Given the description of an element on the screen output the (x, y) to click on. 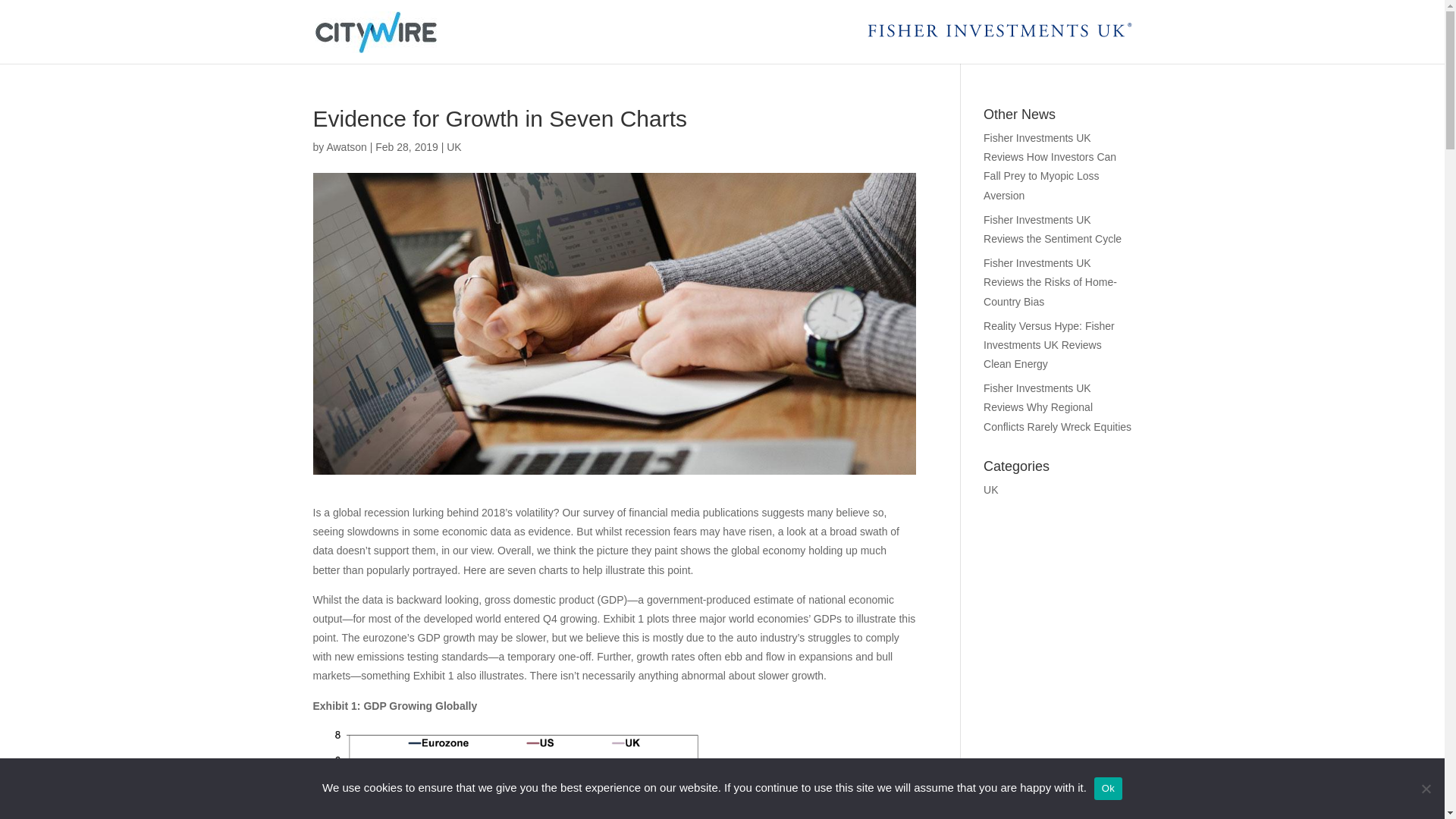
UK (453, 146)
Awatson (346, 146)
UK (990, 490)
Fisher Investments UK Reviews the Risks of Home-Country Bias (1050, 282)
Ok (1108, 787)
Posts by Awatson (346, 146)
Fisher Investments UK Reviews the Sentiment Cycle (1052, 228)
No (1425, 788)
